Given the description of an element on the screen output the (x, y) to click on. 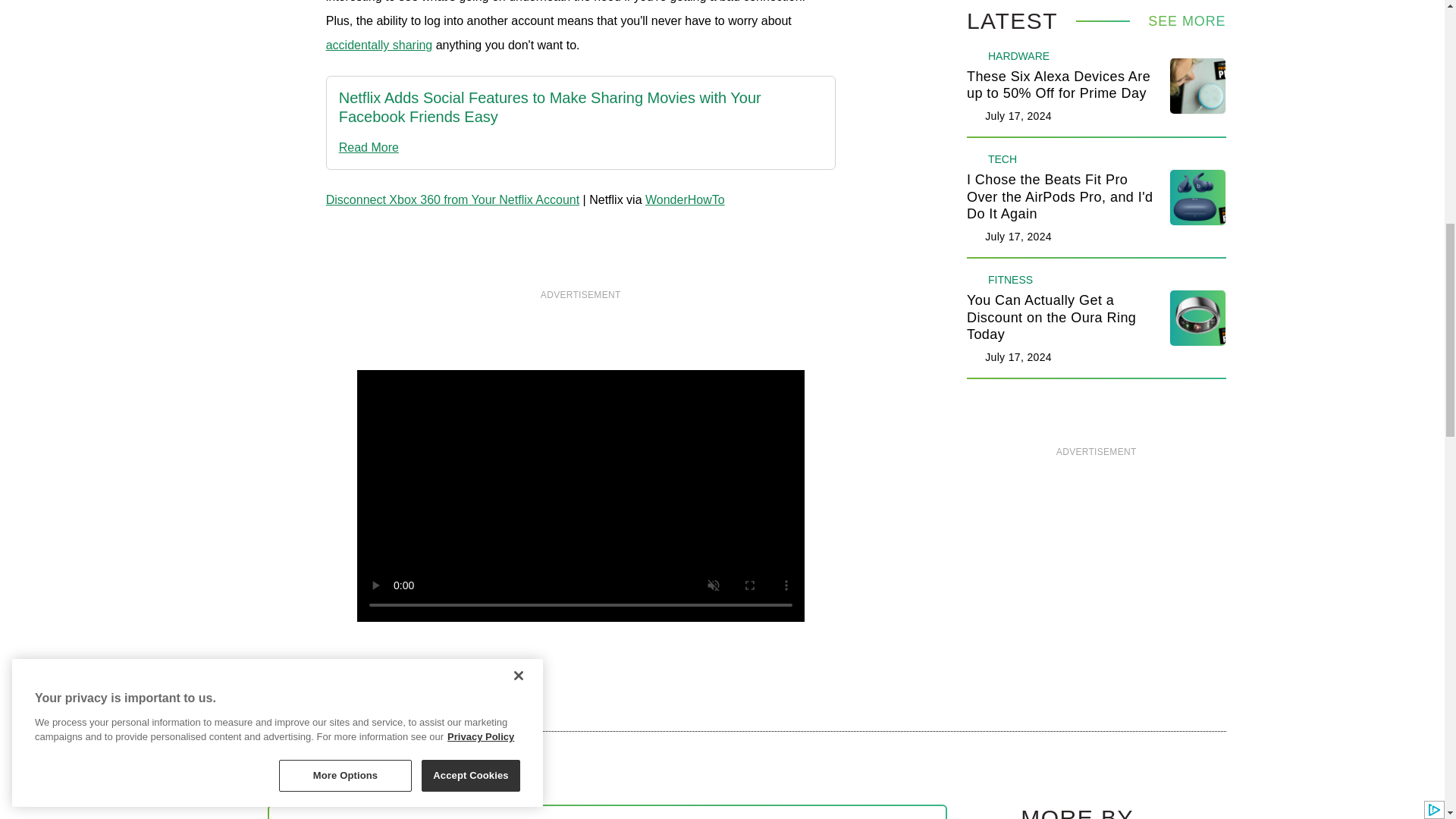
open in a new window (580, 147)
open in a new window (580, 107)
open in a new window (379, 44)
